Given the description of an element on the screen output the (x, y) to click on. 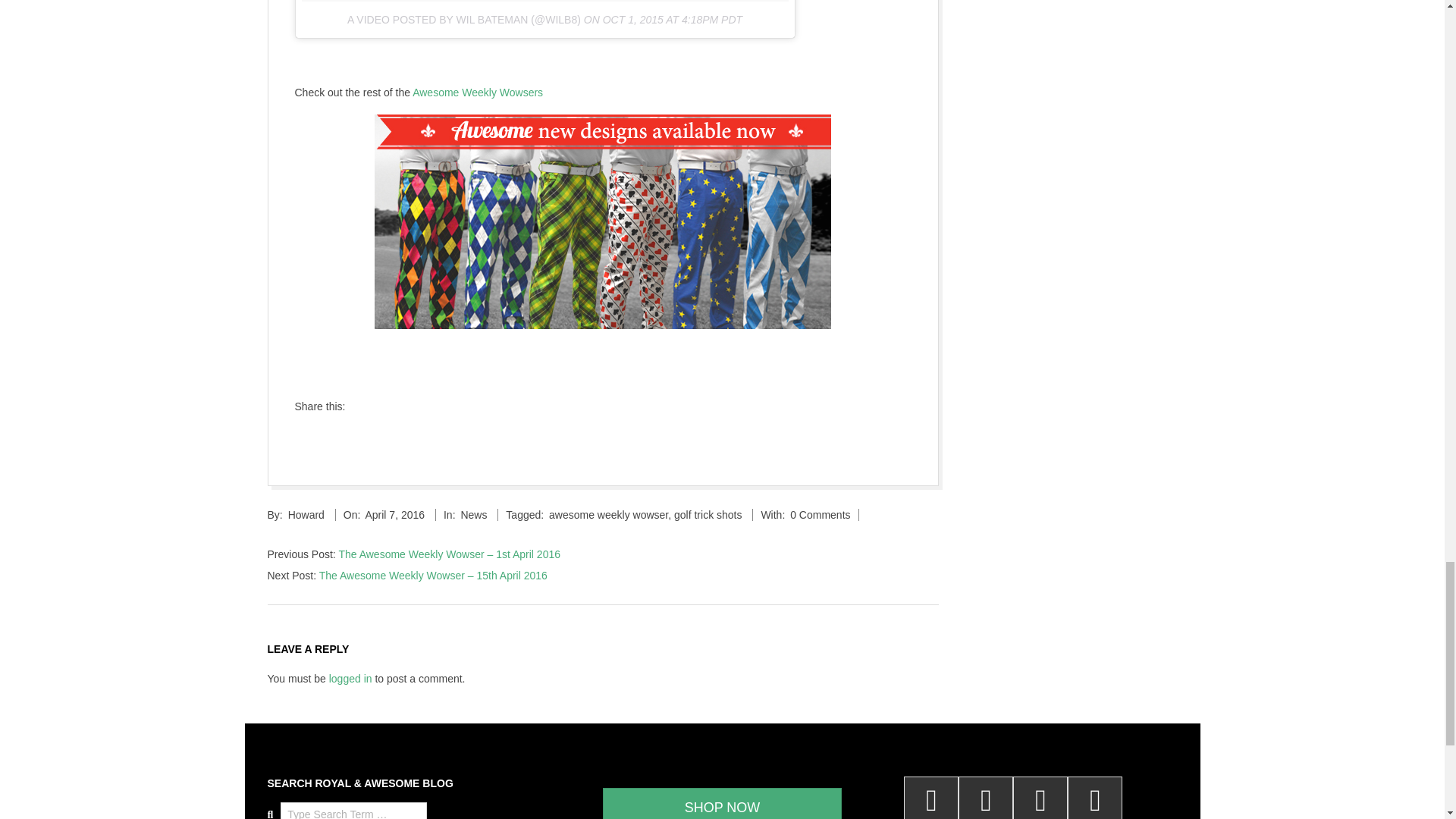
Thursday, April 7, 2016, 12:50 pm (395, 514)
News (473, 514)
awesome weekly wowser (608, 514)
SHOP NOW (721, 803)
golf trick shots (707, 514)
Posts by Howard (306, 514)
0 Comments (820, 514)
Awesome Weekly Wowsers (477, 92)
logged in (350, 678)
Howard (306, 514)
